Given the description of an element on the screen output the (x, y) to click on. 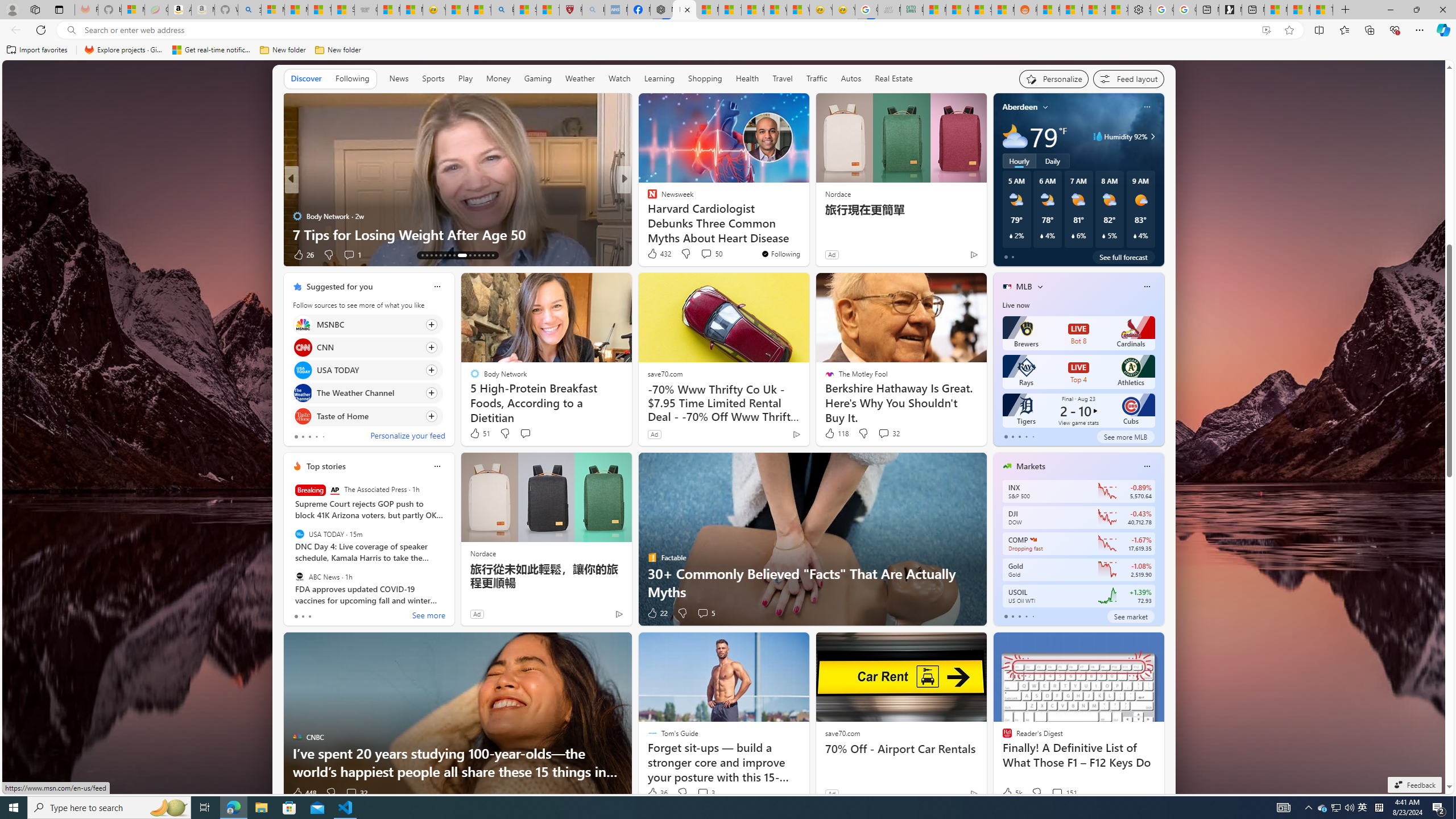
AutomationID: tab-71 (444, 255)
Microsoft-Report a Concern to Bing (132, 9)
Money (497, 79)
AutomationID: tab-73 (454, 255)
ABC News (299, 576)
Health (746, 78)
Enhance video (1266, 29)
Shopping (705, 79)
View comments 104 Comment (709, 254)
Travel (782, 79)
View comments 1 Comment (351, 254)
tab-1 (1012, 616)
INSIDER (647, 197)
